Given the description of an element on the screen output the (x, y) to click on. 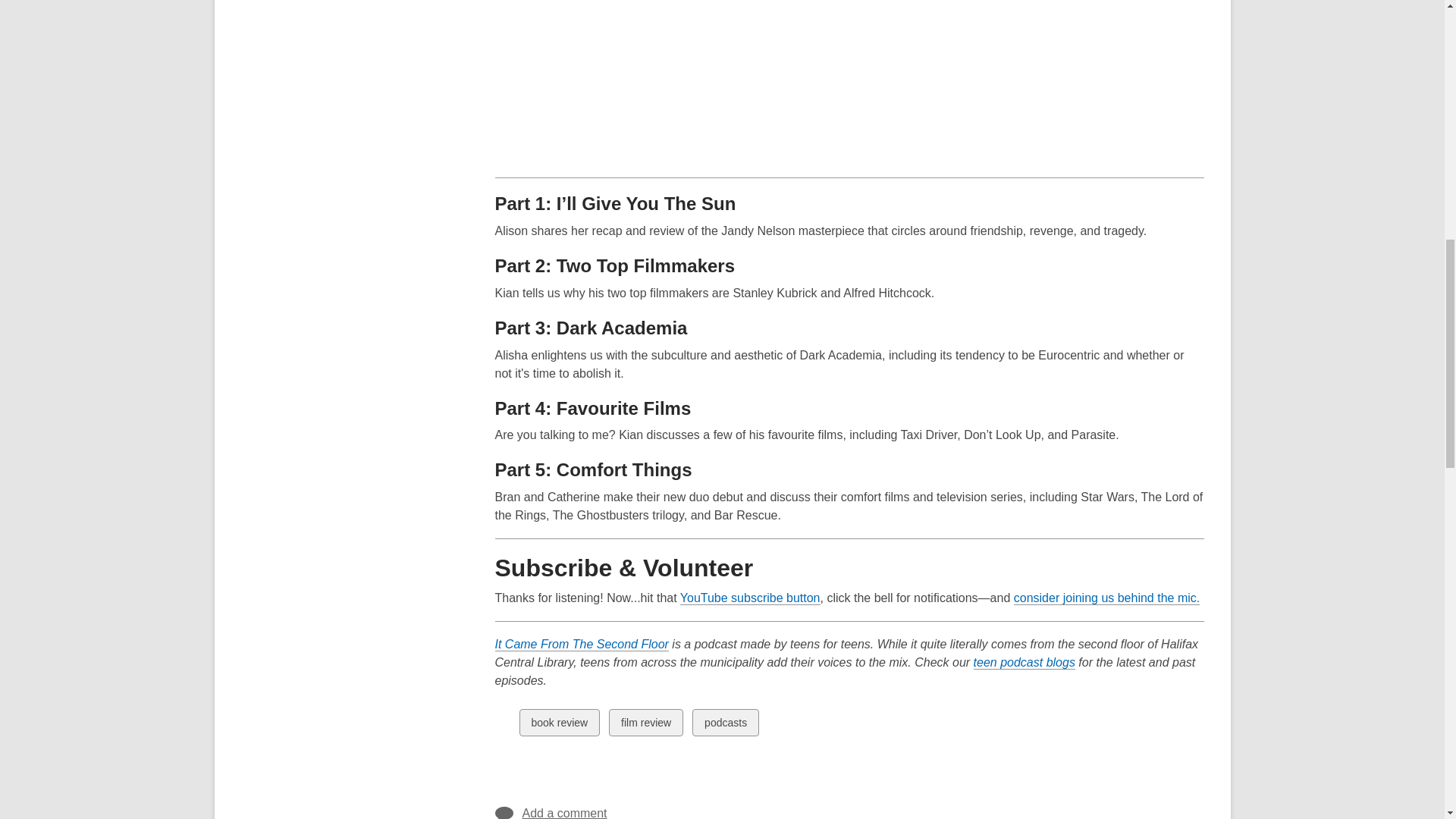
YouTube video player (706, 81)
